Given the description of an element on the screen output the (x, y) to click on. 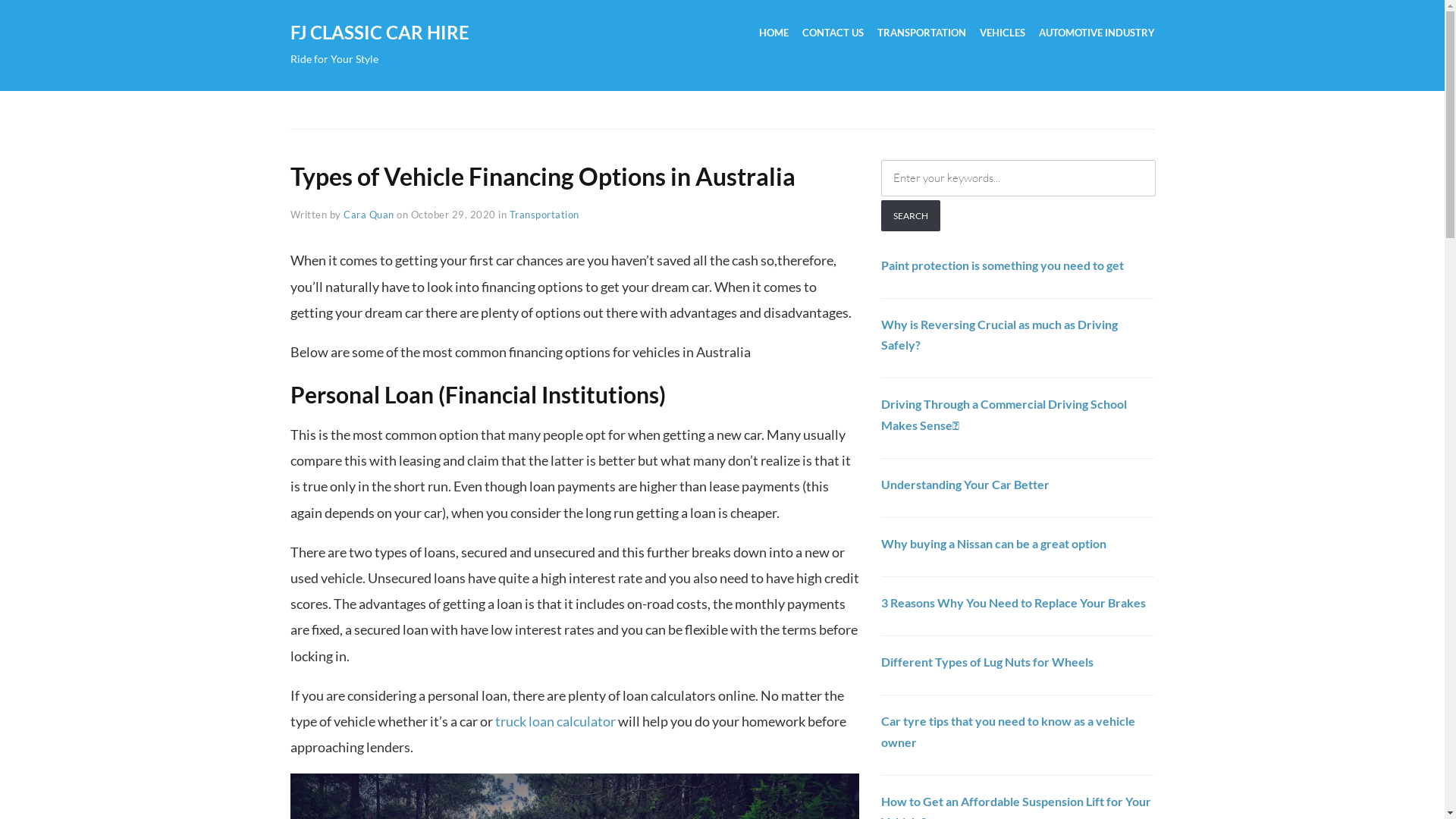
Car tyre tips that you need to know as a vehicle owner Element type: text (1008, 730)
Different Types of Lug Nuts for Wheels Element type: text (987, 661)
AUTOMOTIVE INDUSTRY Element type: text (1096, 33)
Understanding Your Car Better Element type: text (965, 483)
VEHICLES Element type: text (1002, 33)
CONTACT US Element type: text (832, 33)
Search Element type: text (910, 215)
Why buying a Nissan can be a great option Element type: text (993, 543)
Paint protection is something you need to get Element type: text (1002, 264)
Transportation Element type: text (544, 214)
3 Reasons Why You Need to Replace Your Brakes Element type: text (1013, 602)
HOME Element type: text (772, 33)
Why is Reversing Crucial as much as Driving Safely? Element type: text (999, 333)
FJ CLASSIC CAR HIRE Element type: text (378, 32)
TRANSPORTATION Element type: text (920, 33)
Cara Quan Element type: text (368, 214)
truck loan calculator Element type: text (554, 720)
